Given the description of an element on the screen output the (x, y) to click on. 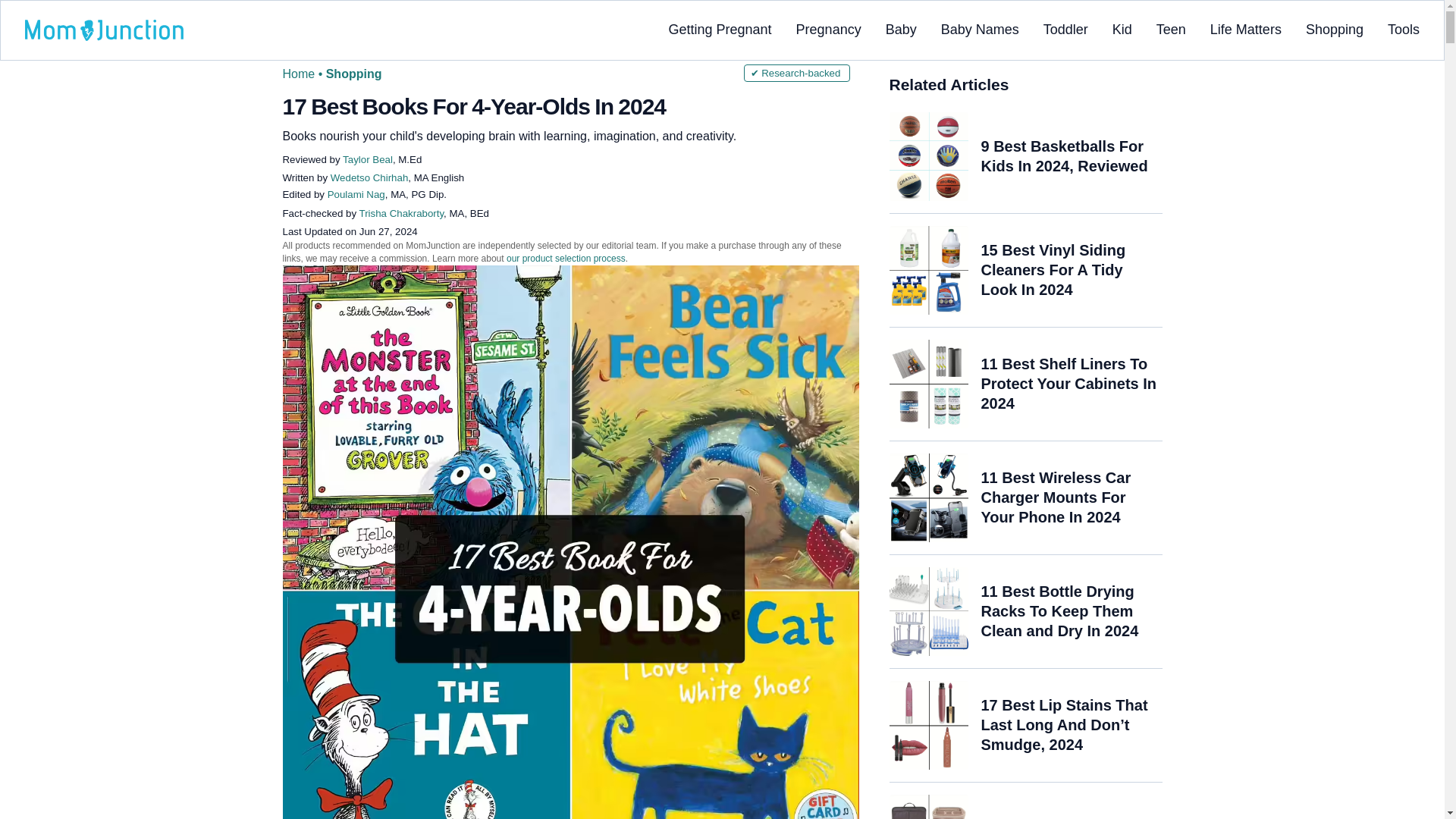
Toddler (1065, 29)
Pregnancy (828, 29)
Getting Pregnant (719, 29)
11 Best Handbag Organizers Of 2024 (928, 806)
Baby Names (979, 29)
